Given the description of an element on the screen output the (x, y) to click on. 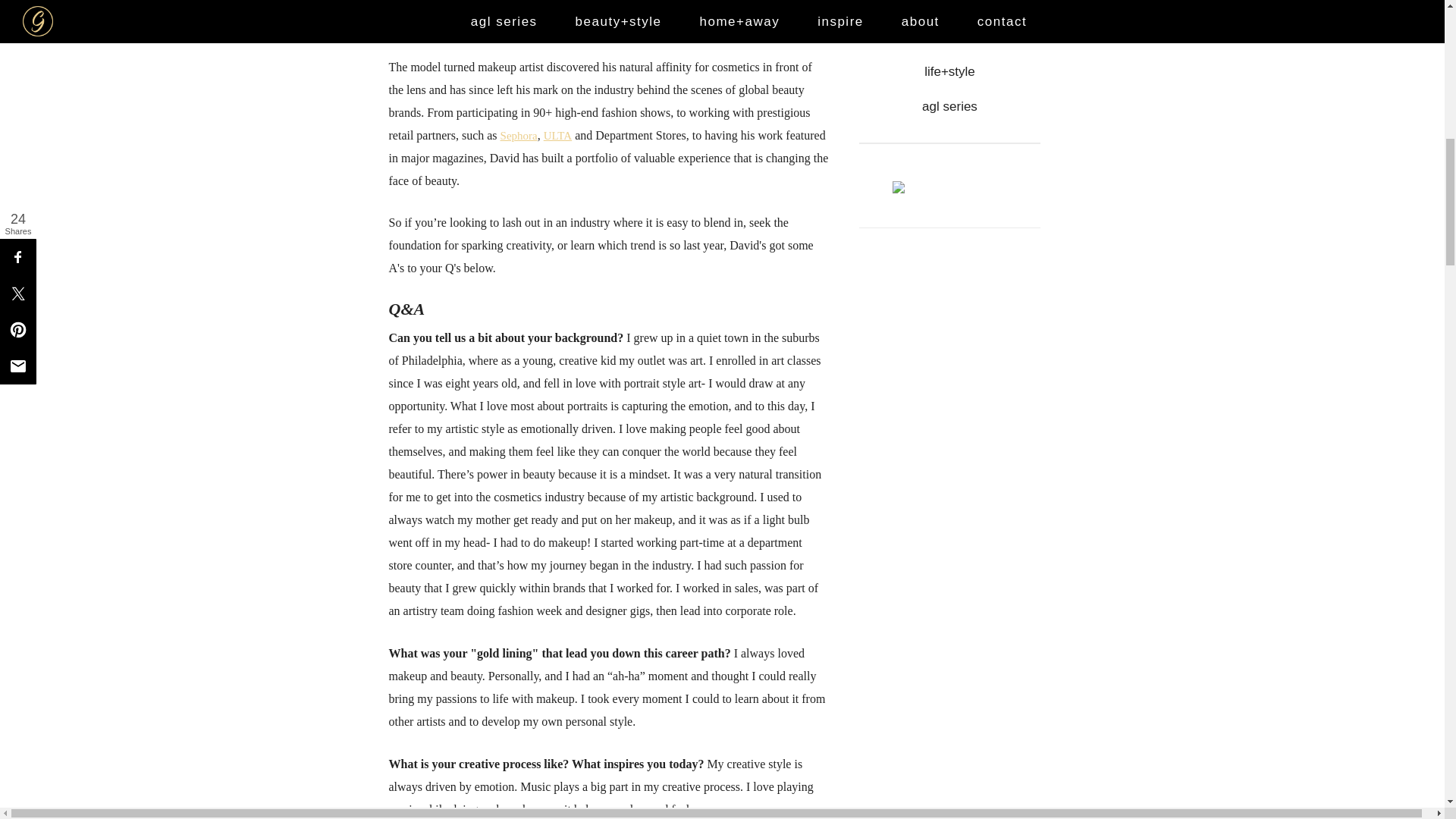
inspire (949, 4)
Buxom (621, 4)
agl series (948, 106)
Sephora (518, 135)
ULTA (557, 135)
